Given the description of an element on the screen output the (x, y) to click on. 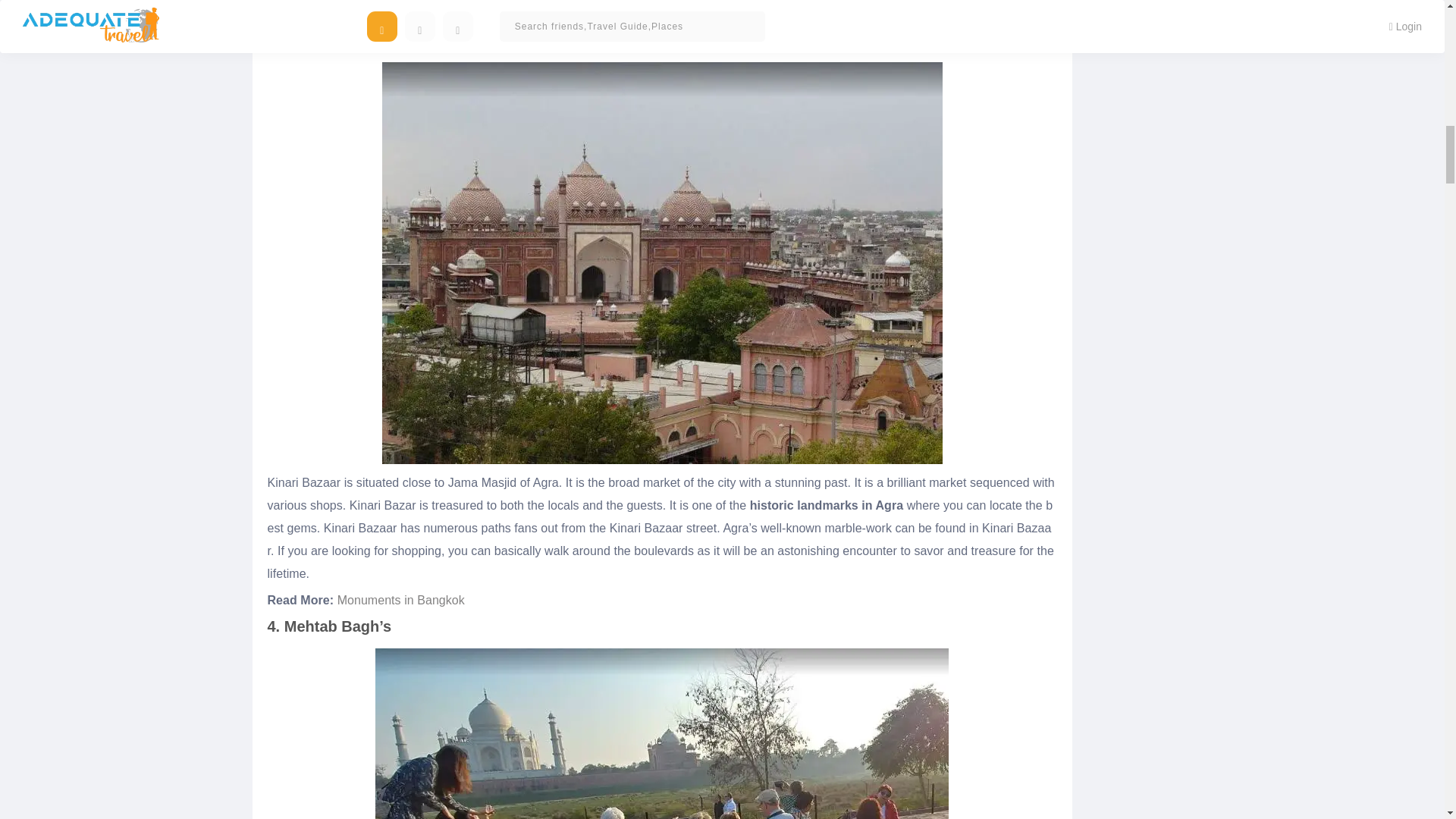
Monuments in Bangkok (400, 599)
